Given the description of an element on the screen output the (x, y) to click on. 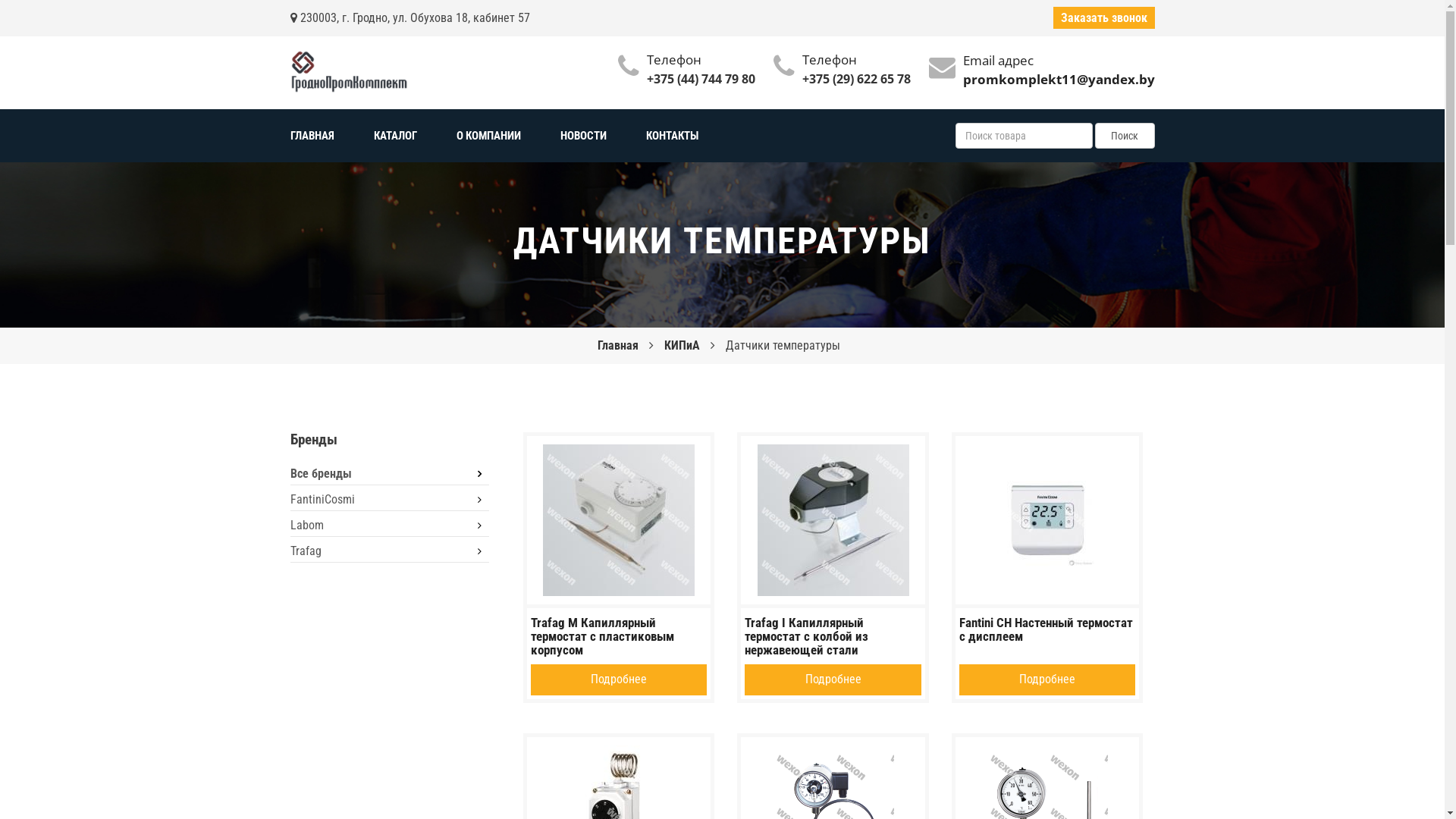
+375 (29) 622 65 78 Element type: text (856, 78)
+375 (44) 744 79 80 Element type: text (700, 78)
Labom Element type: text (389, 525)
FantiniCosmi Element type: text (389, 500)
Trafag Element type: text (389, 551)
